Given the description of an element on the screen output the (x, y) to click on. 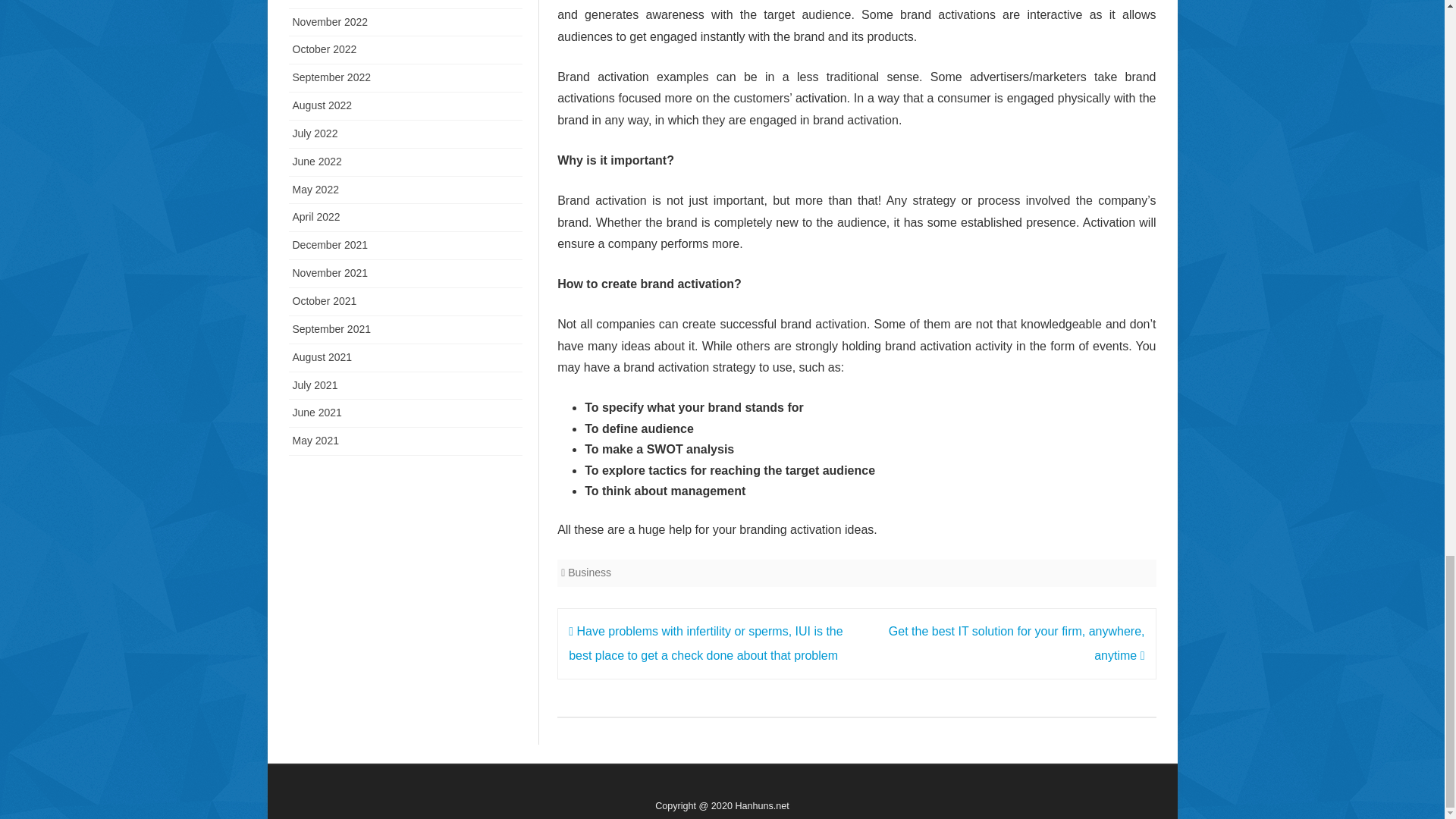
Get the best IT solution for your firm, anywhere, anytime (1016, 642)
Business (589, 572)
